Given the description of an element on the screen output the (x, y) to click on. 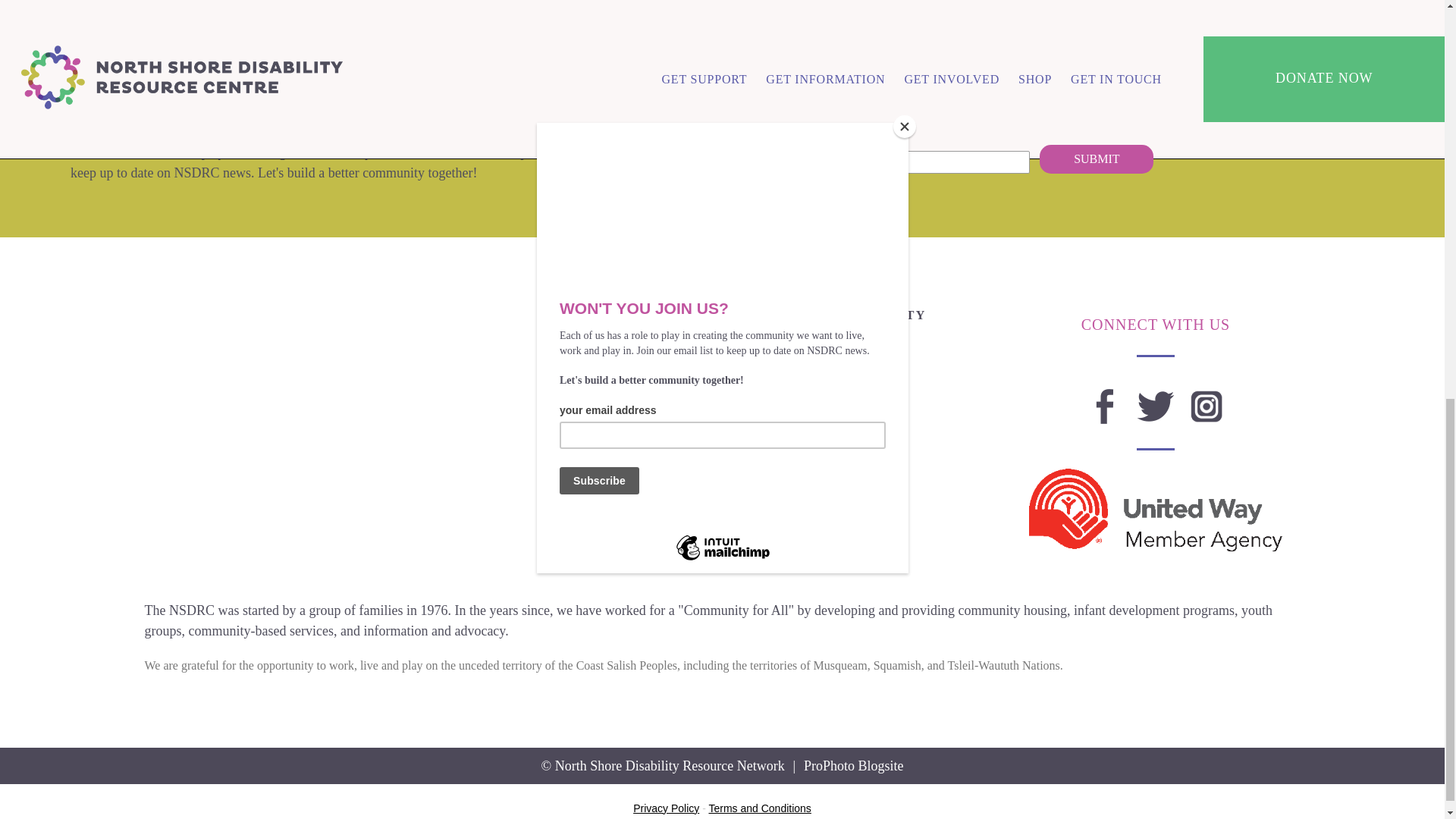
submit (1096, 158)
ProPhoto Photo Blog (853, 765)
